Given the description of an element on the screen output the (x, y) to click on. 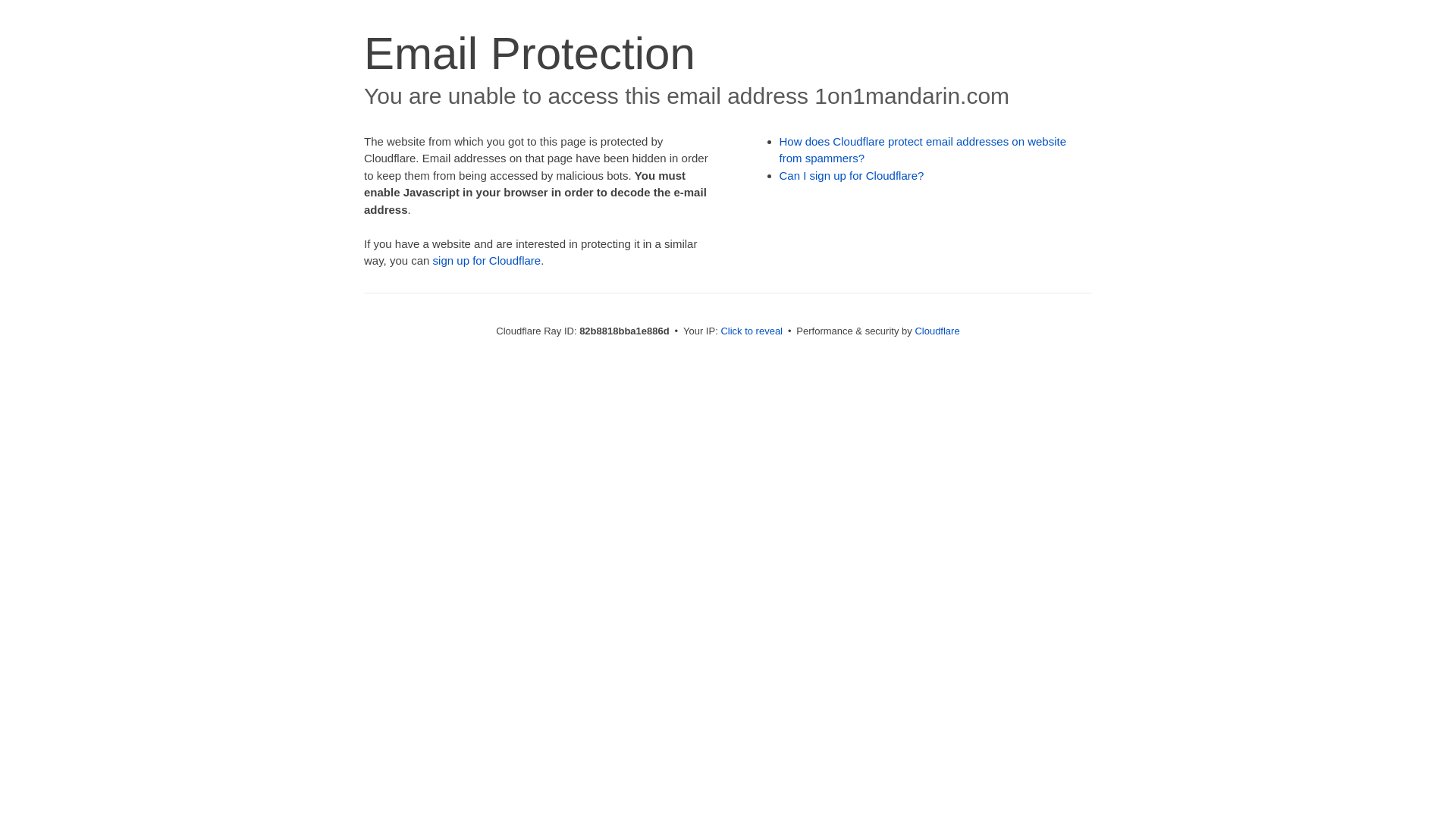
Can I sign up for Cloudflare? Element type: text (851, 175)
Cloudflare Element type: text (936, 330)
sign up for Cloudflare Element type: text (487, 260)
Click to reveal Element type: text (751, 330)
